Given the description of an element on the screen output the (x, y) to click on. 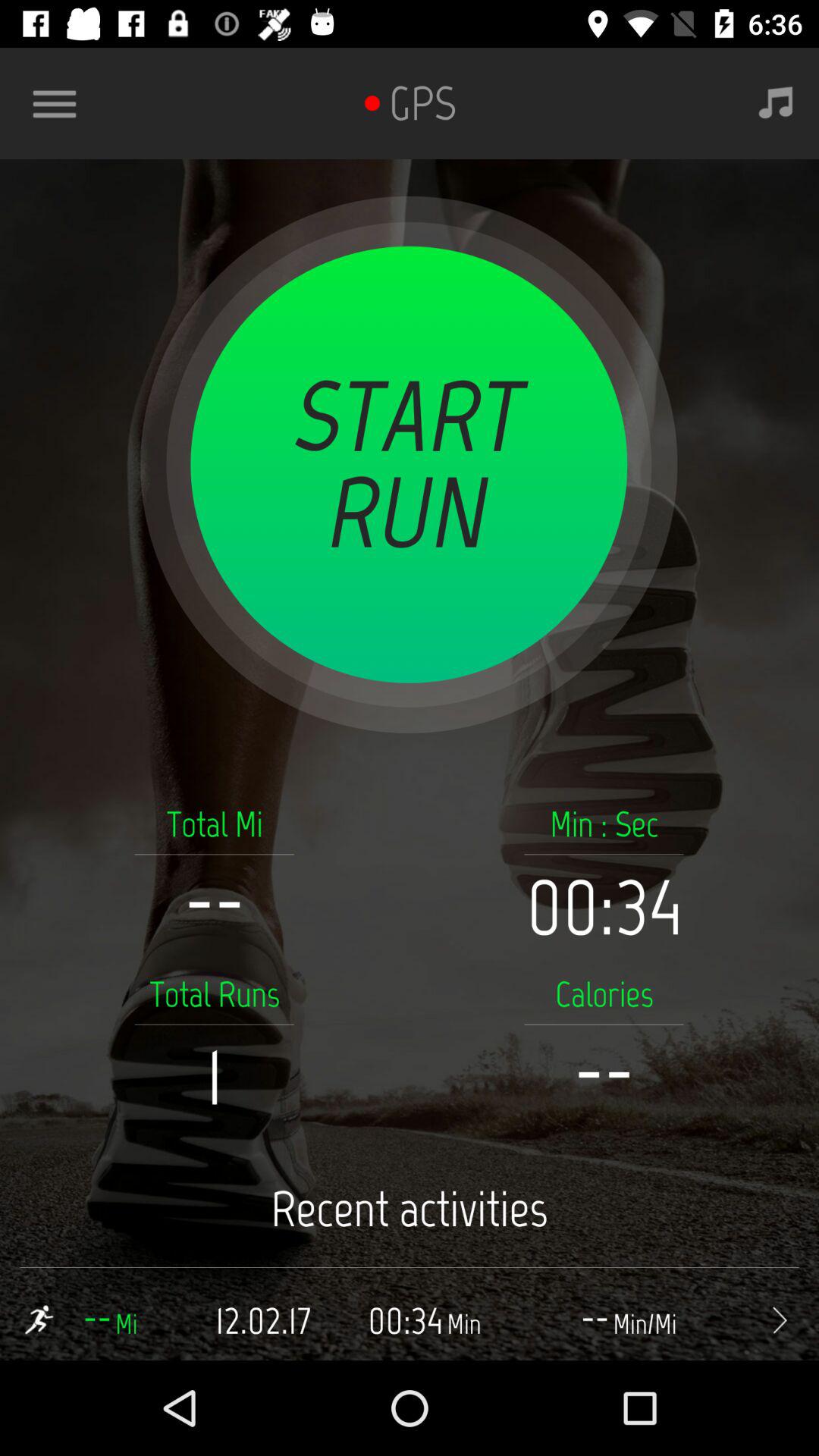
view app features (60, 103)
